Given the description of an element on the screen output the (x, y) to click on. 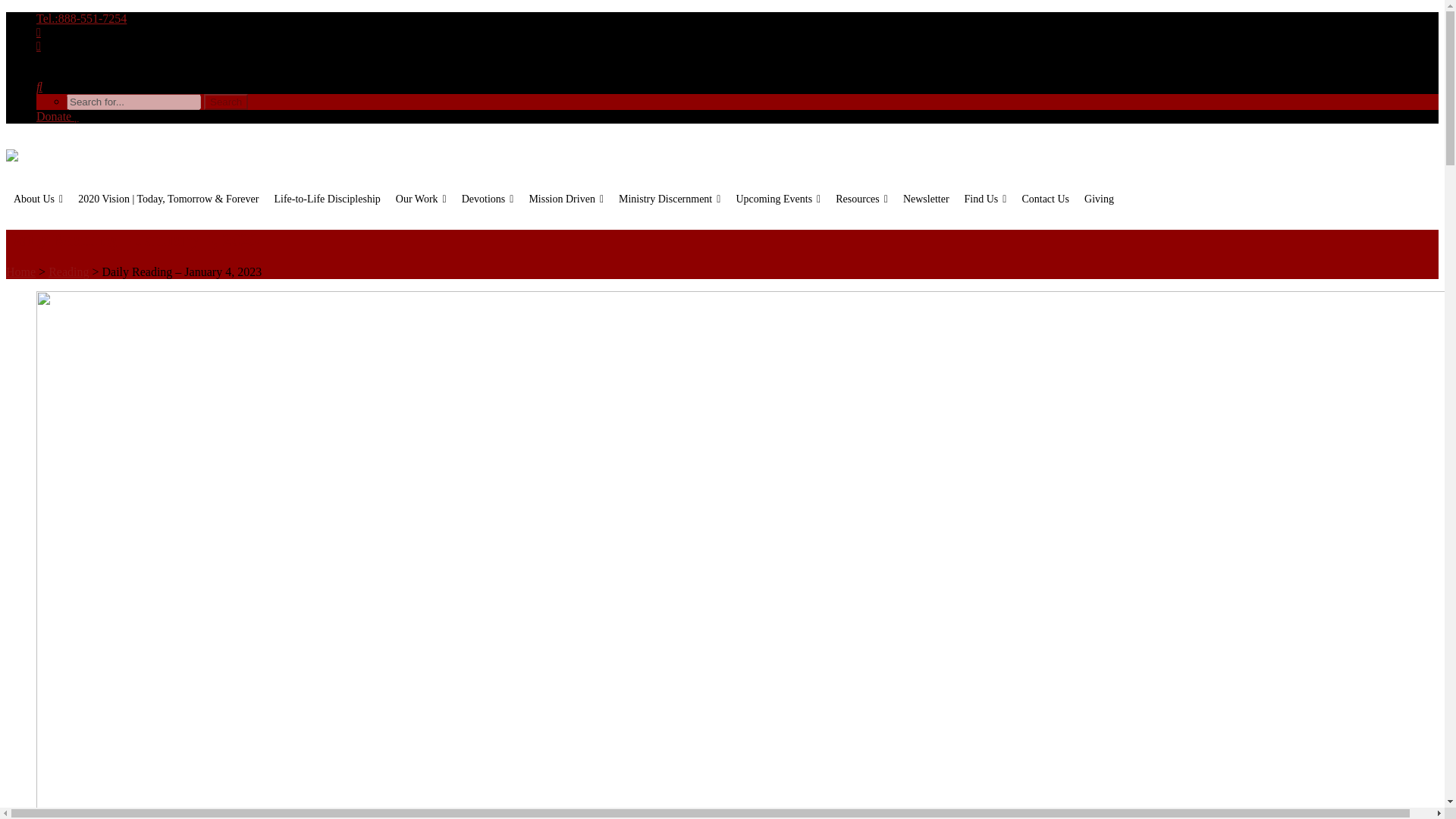
Life-to-Life Discipleship (326, 199)
Search (225, 101)
About Us (37, 199)
Search (225, 101)
Donate (57, 115)
Tel.:888-551-7254 (81, 18)
Search for... (133, 101)
Our Work (421, 199)
